Given the description of an element on the screen output the (x, y) to click on. 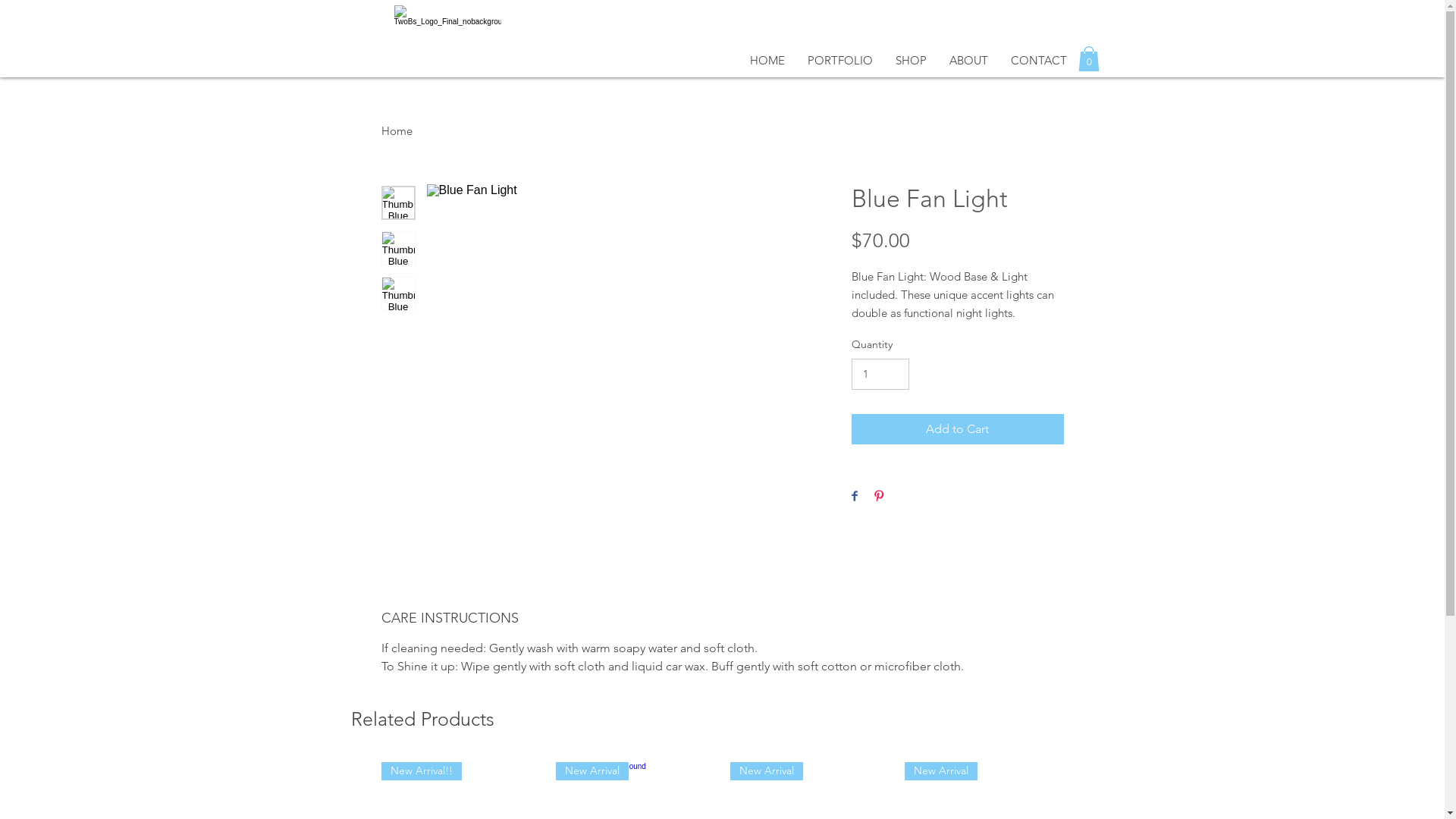
0 Element type: text (1088, 58)
CONTACT Element type: text (1038, 60)
SHOP Element type: text (911, 60)
HOME Element type: text (767, 60)
Add to Cart Element type: text (956, 429)
ABOUT Element type: text (967, 60)
PORTFOLIO Element type: text (840, 60)
Home Element type: text (395, 130)
